Given the description of an element on the screen output the (x, y) to click on. 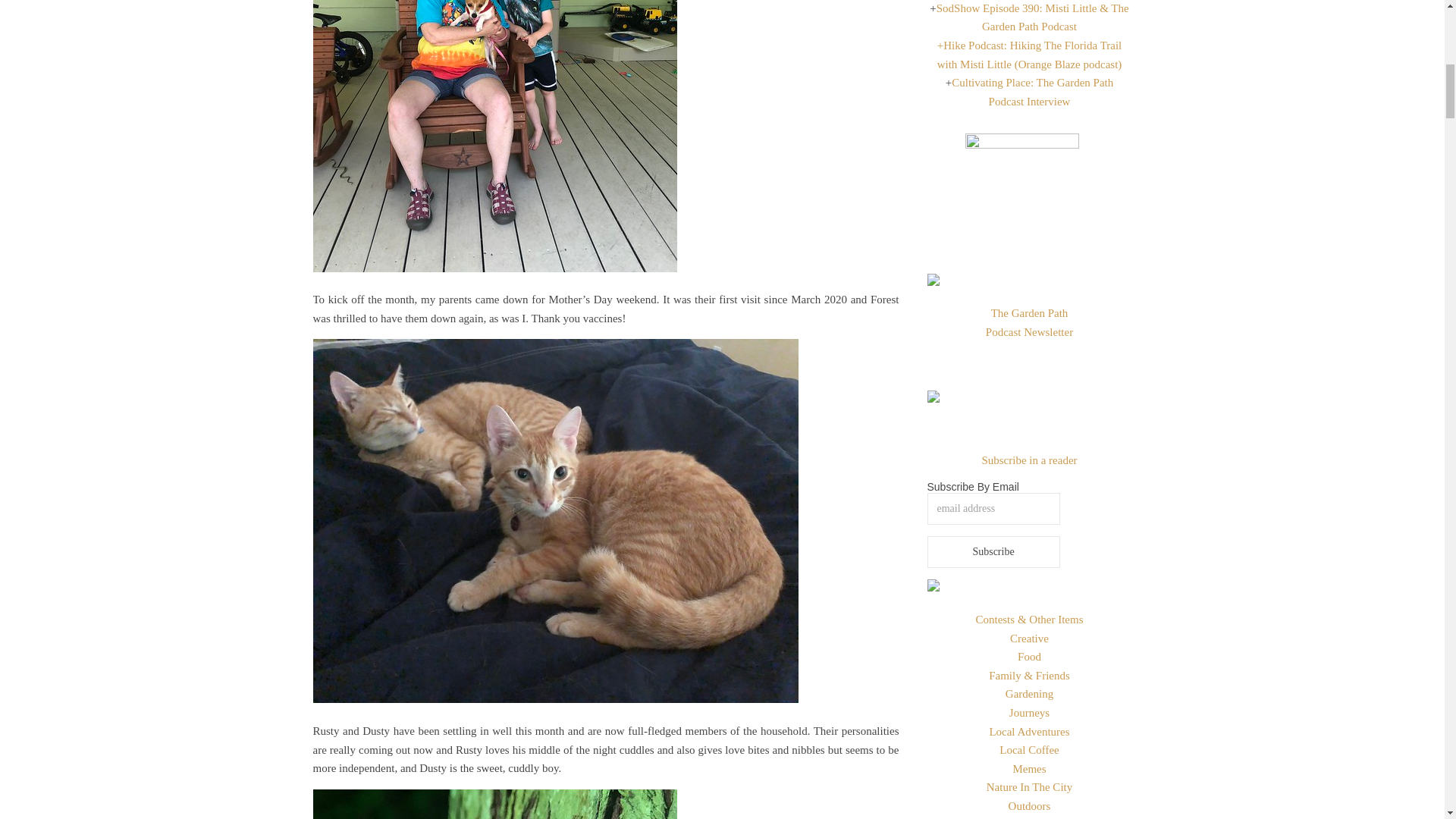
Subscribe (992, 552)
Untitled (605, 804)
